Given the description of an element on the screen output the (x, y) to click on. 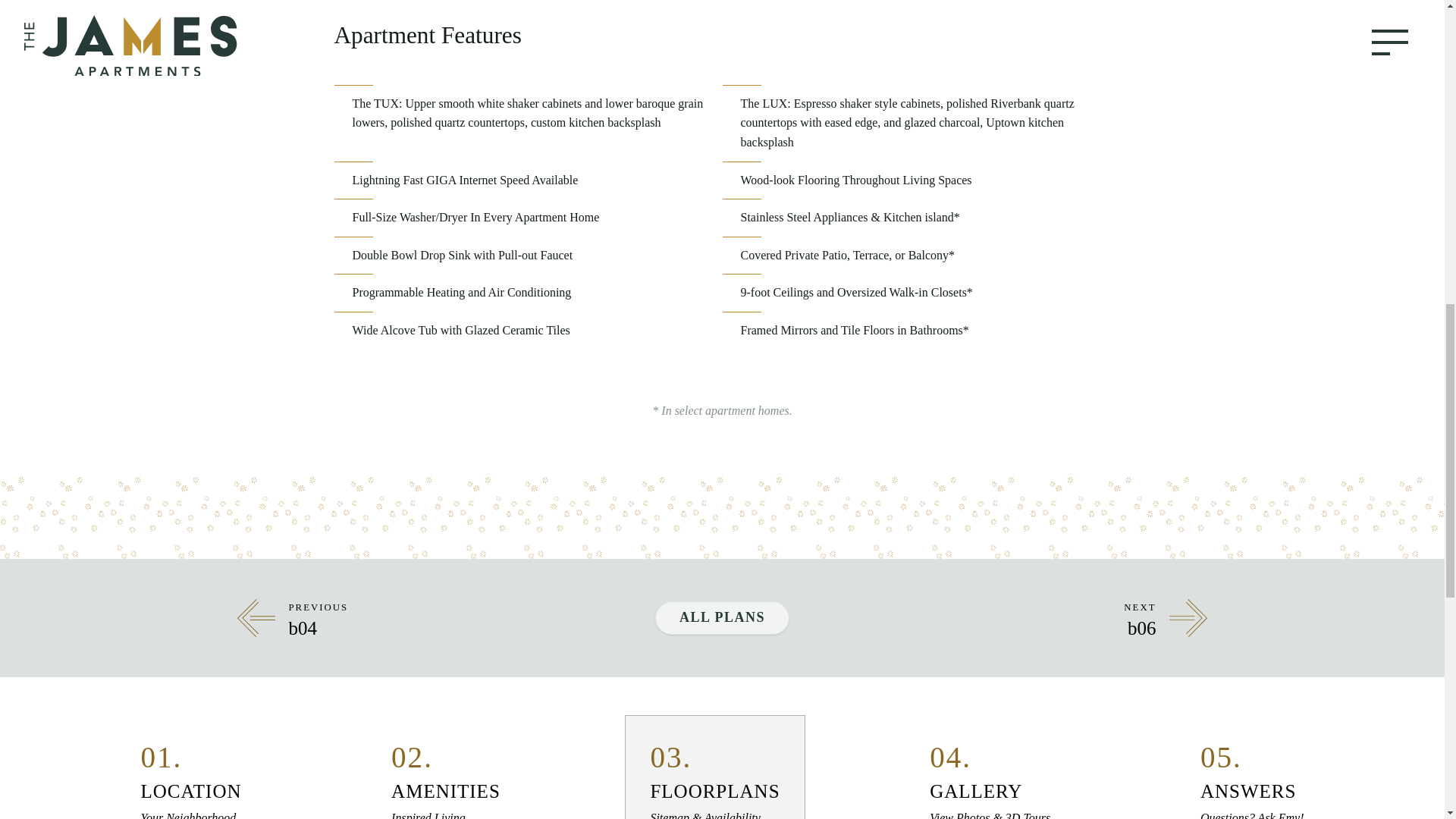
ALL PLANS (445, 766)
